Given the description of an element on the screen output the (x, y) to click on. 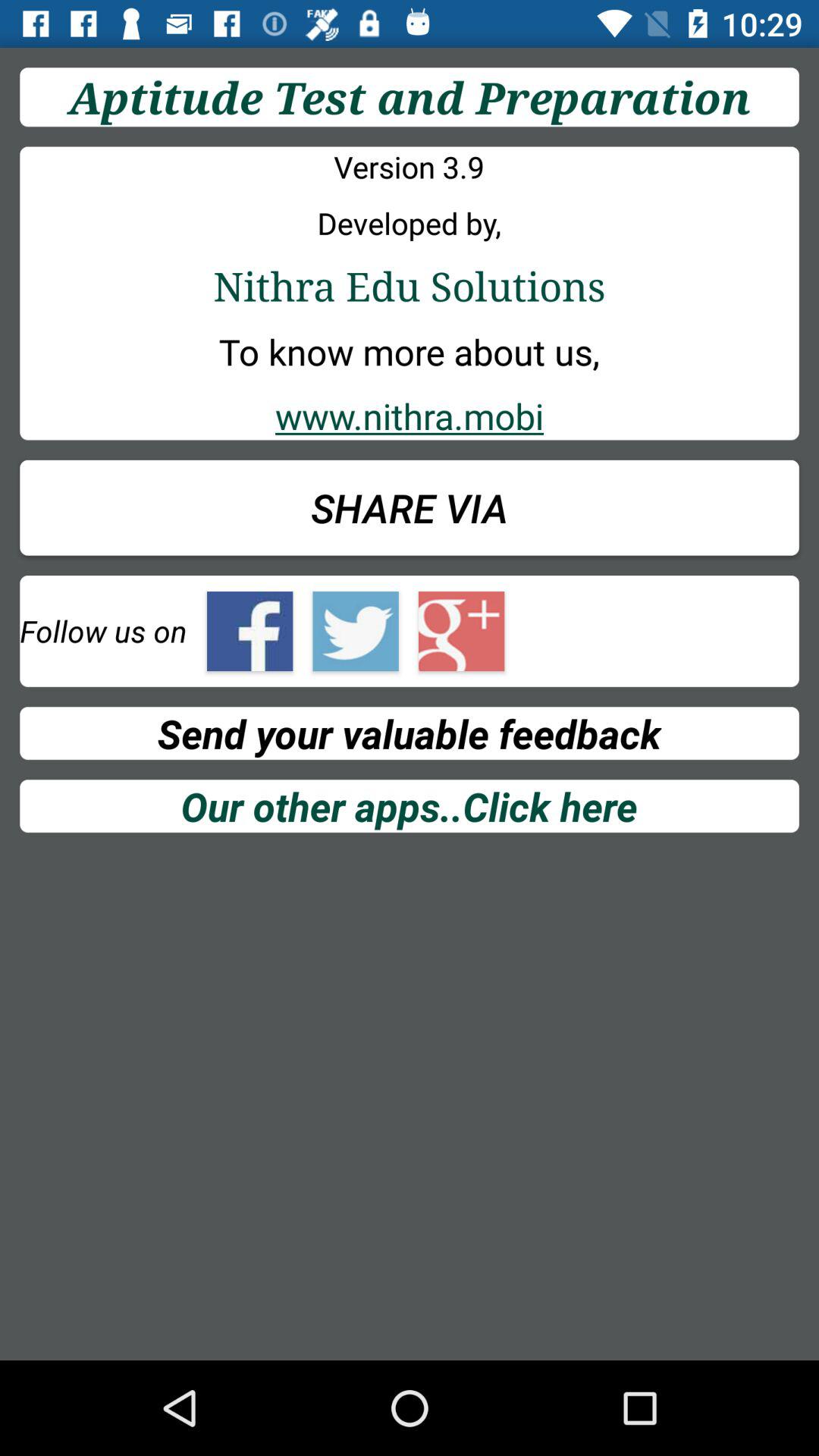
orange box flashing on tweeter sign (355, 631)
